Given the description of an element on the screen output the (x, y) to click on. 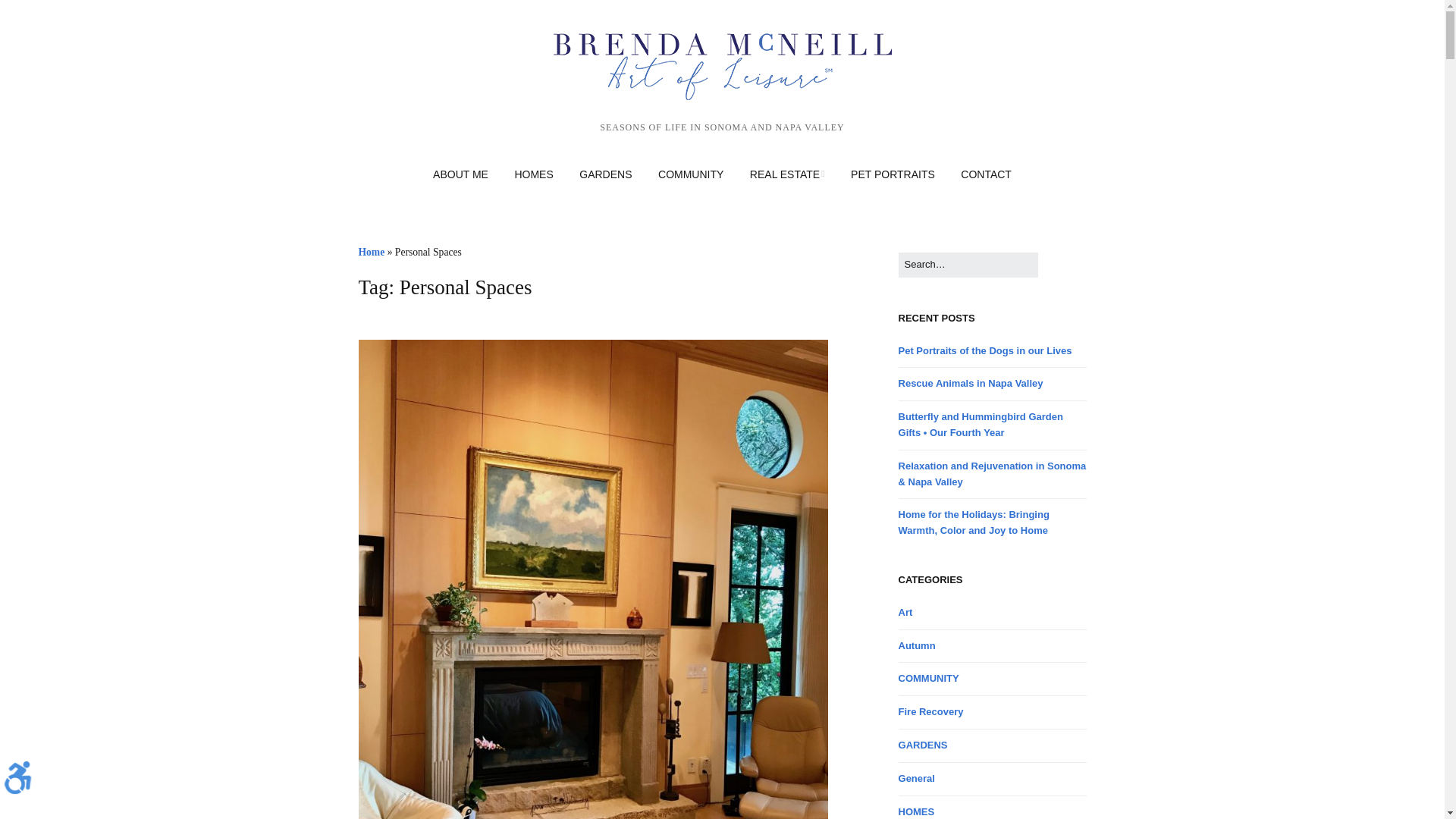
GARDENS (605, 174)
Press Enter to submit your search (968, 264)
REAL ESTATE (787, 174)
COMMUNITY (690, 174)
ABOUT ME (460, 174)
HOMES (533, 174)
